Given the description of an element on the screen output the (x, y) to click on. 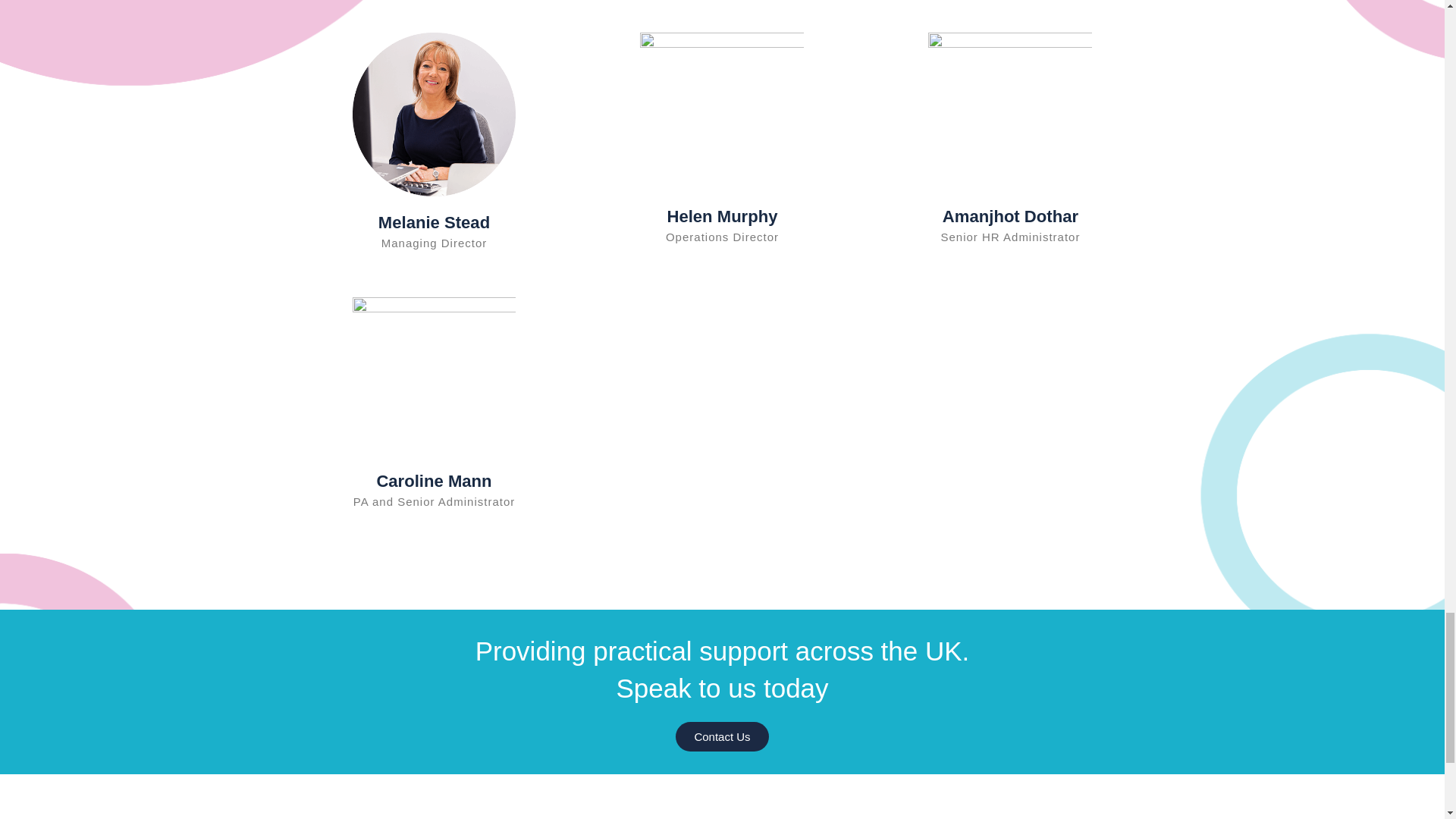
Contact Us (721, 736)
Melanie Stead (433, 221)
Helen Murphy (721, 216)
